Given the description of an element on the screen output the (x, y) to click on. 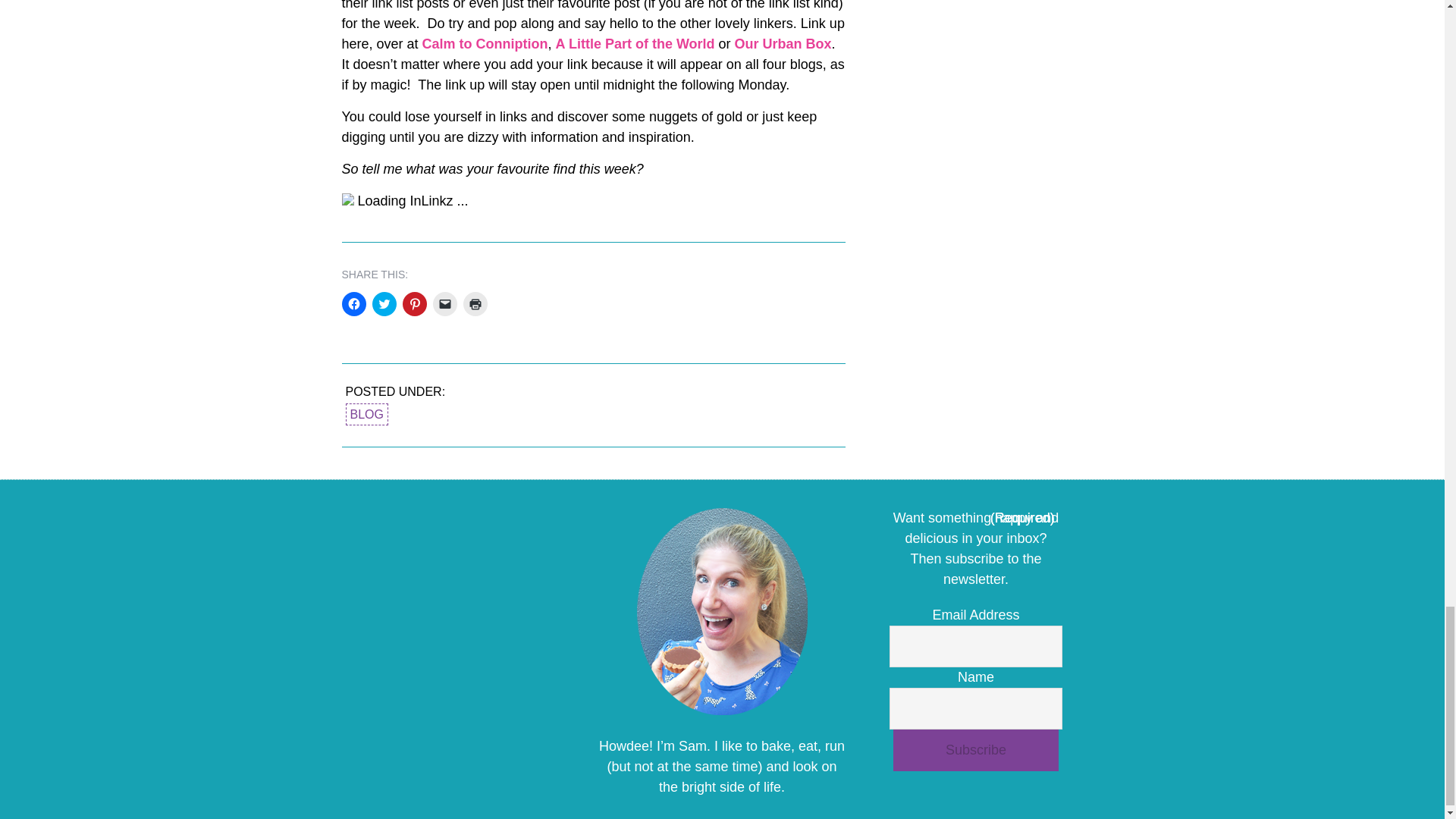
Subscribe (975, 750)
Click to share on Twitter (383, 303)
Calm to Conniption (485, 43)
Click to share on Facebook (352, 303)
A Little Part of the World (635, 43)
Our Urban Box (783, 43)
Click to share on Pinterest (413, 303)
